Given the description of an element on the screen output the (x, y) to click on. 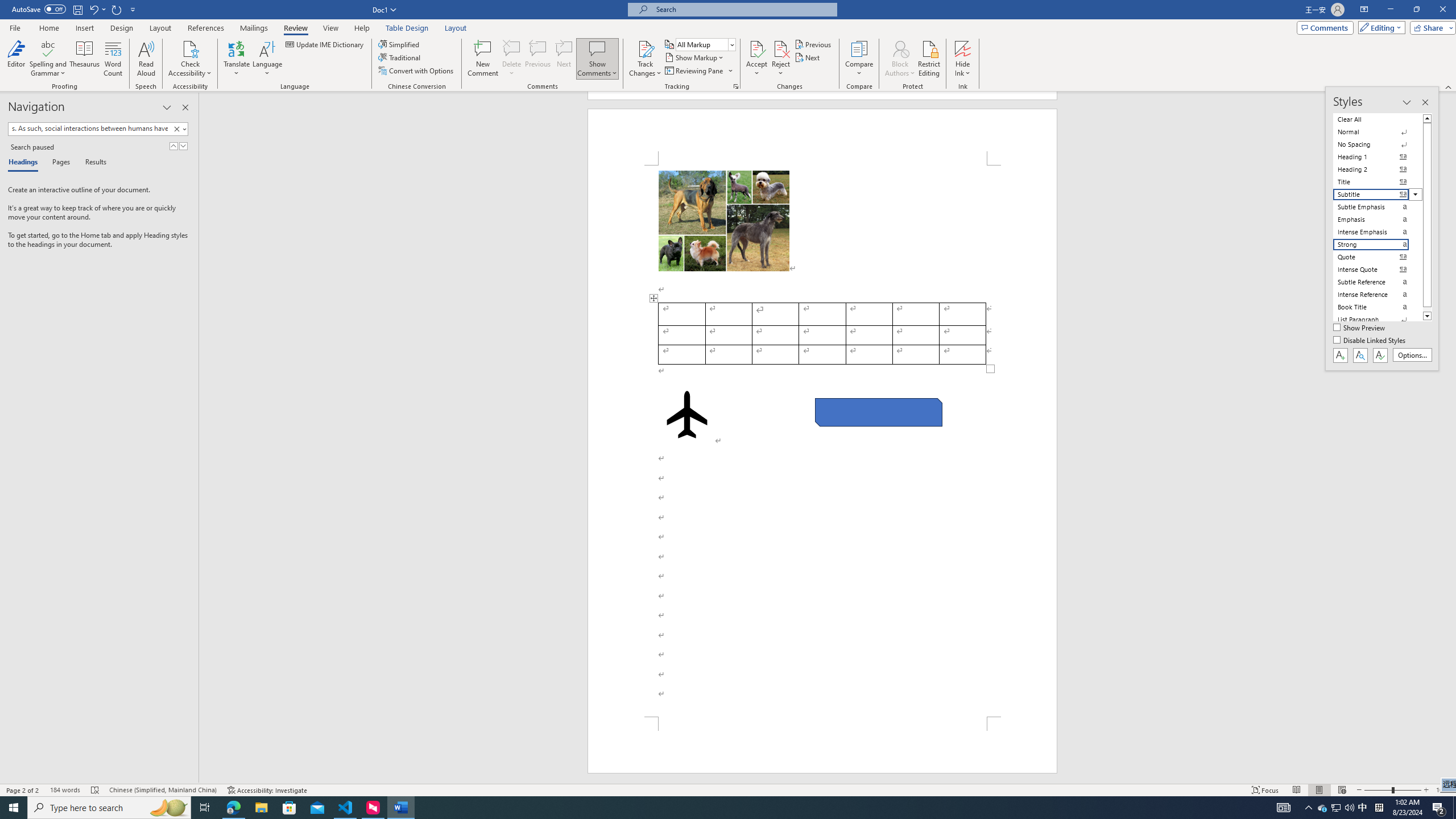
Clear (176, 128)
Track Changes (644, 58)
Spelling and Grammar (48, 58)
Reviewing Pane (698, 69)
Intense Quote (1377, 269)
Rectangle: Diagonal Corners Snipped 2 (878, 412)
Hide Ink (962, 48)
Block Authors (900, 48)
Accept and Move to Next (756, 48)
